Given the description of an element on the screen output the (x, y) to click on. 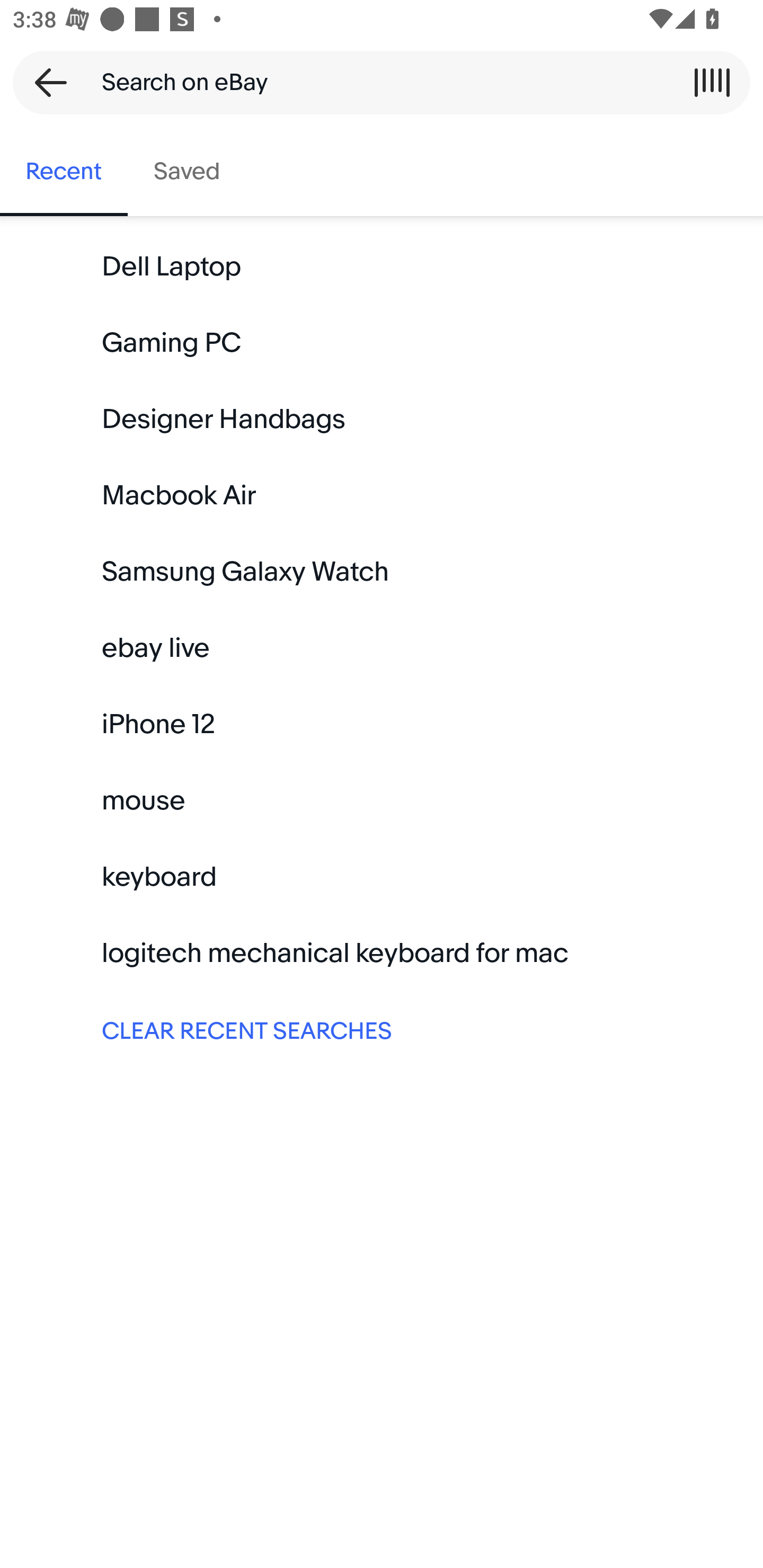
Back (44, 82)
Scan a barcode (711, 82)
Search on eBay (375, 82)
Saved, tab 2 of 2 Saved (186, 171)
Dell Laptop Keyword search Dell Laptop: (381, 266)
Gaming PC Keyword search Gaming PC: (381, 343)
Macbook Air Keyword search Macbook Air: (381, 495)
ebay live Keyword search ebay live: (381, 647)
iPhone 12 Keyword search iPhone 12: (381, 724)
mouse Keyword search mouse: (381, 800)
keyboard Keyword search keyboard: (381, 876)
CLEAR RECENT SEARCHES (381, 1028)
